Given the description of an element on the screen output the (x, y) to click on. 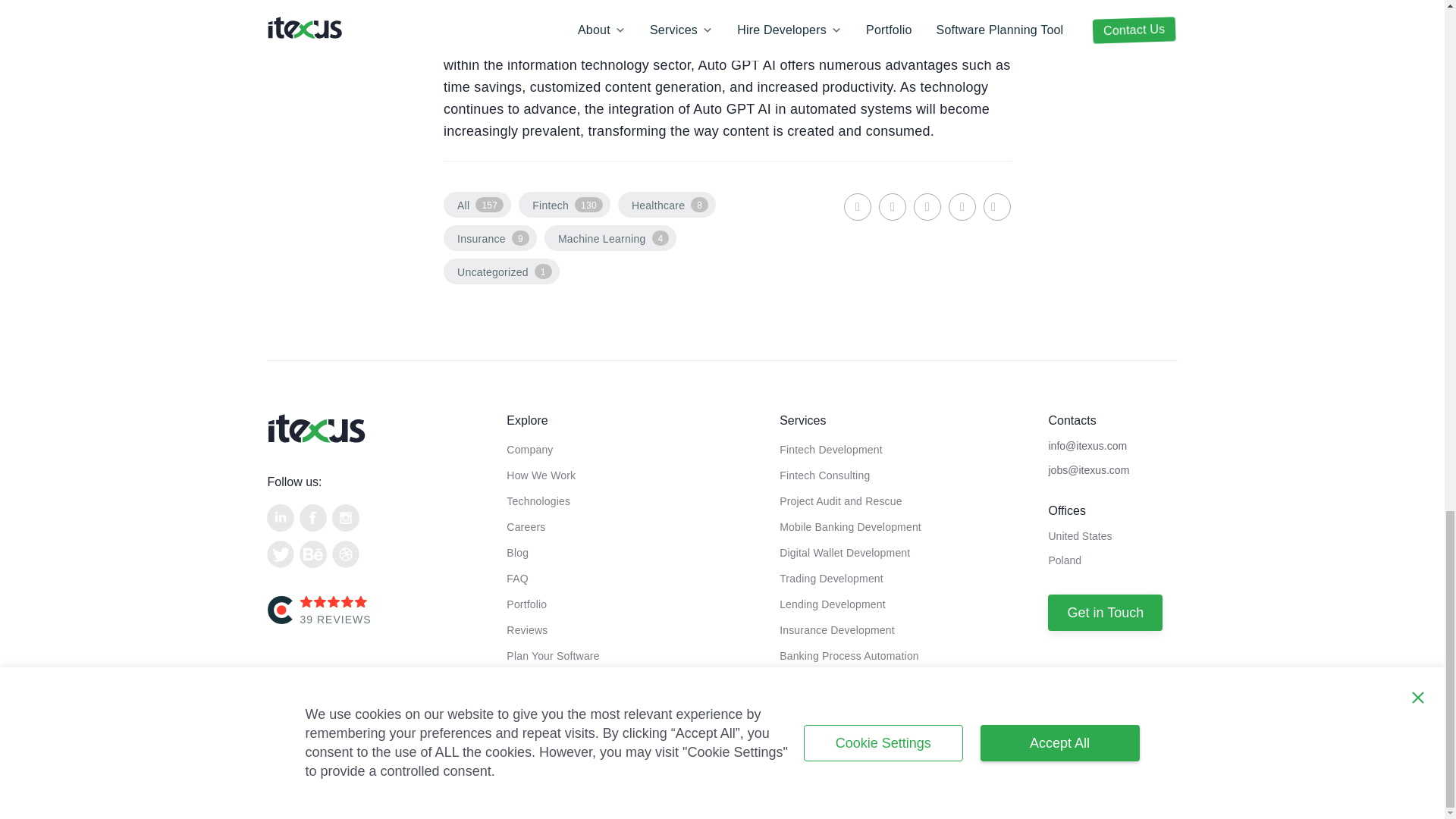
Copy to Clipboard (997, 206)
Share in Reddit (962, 206)
Share in Twitter (927, 206)
Share in Facebook (892, 206)
Share in Linkedin (857, 206)
